Given the description of an element on the screen output the (x, y) to click on. 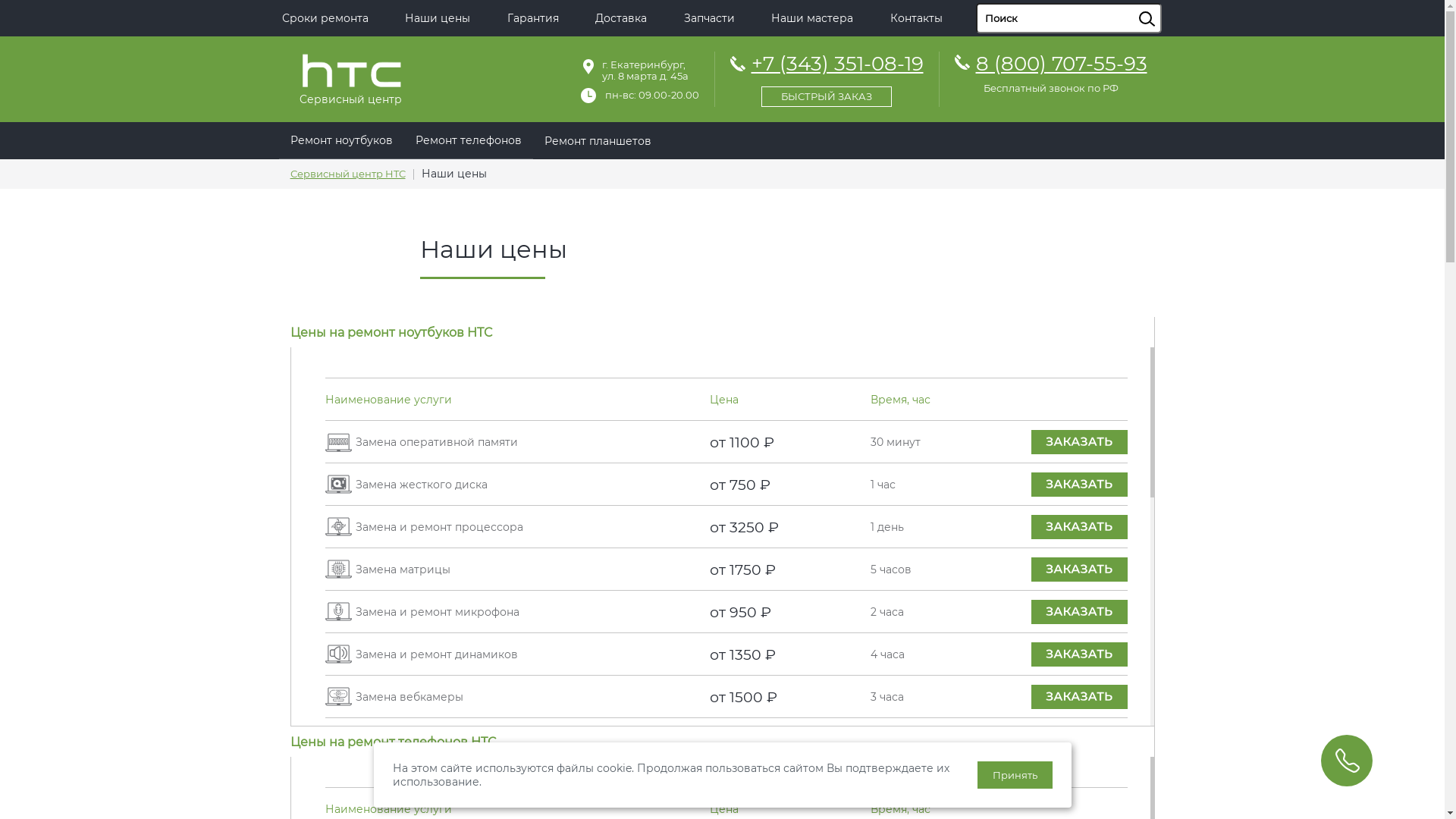
8 (800) 707-55-93 Element type: text (1060, 63)
sisea.search Element type: text (1165, 3)
+7 (343) 351-08-19 Element type: text (825, 77)
